Given the description of an element on the screen output the (x, y) to click on. 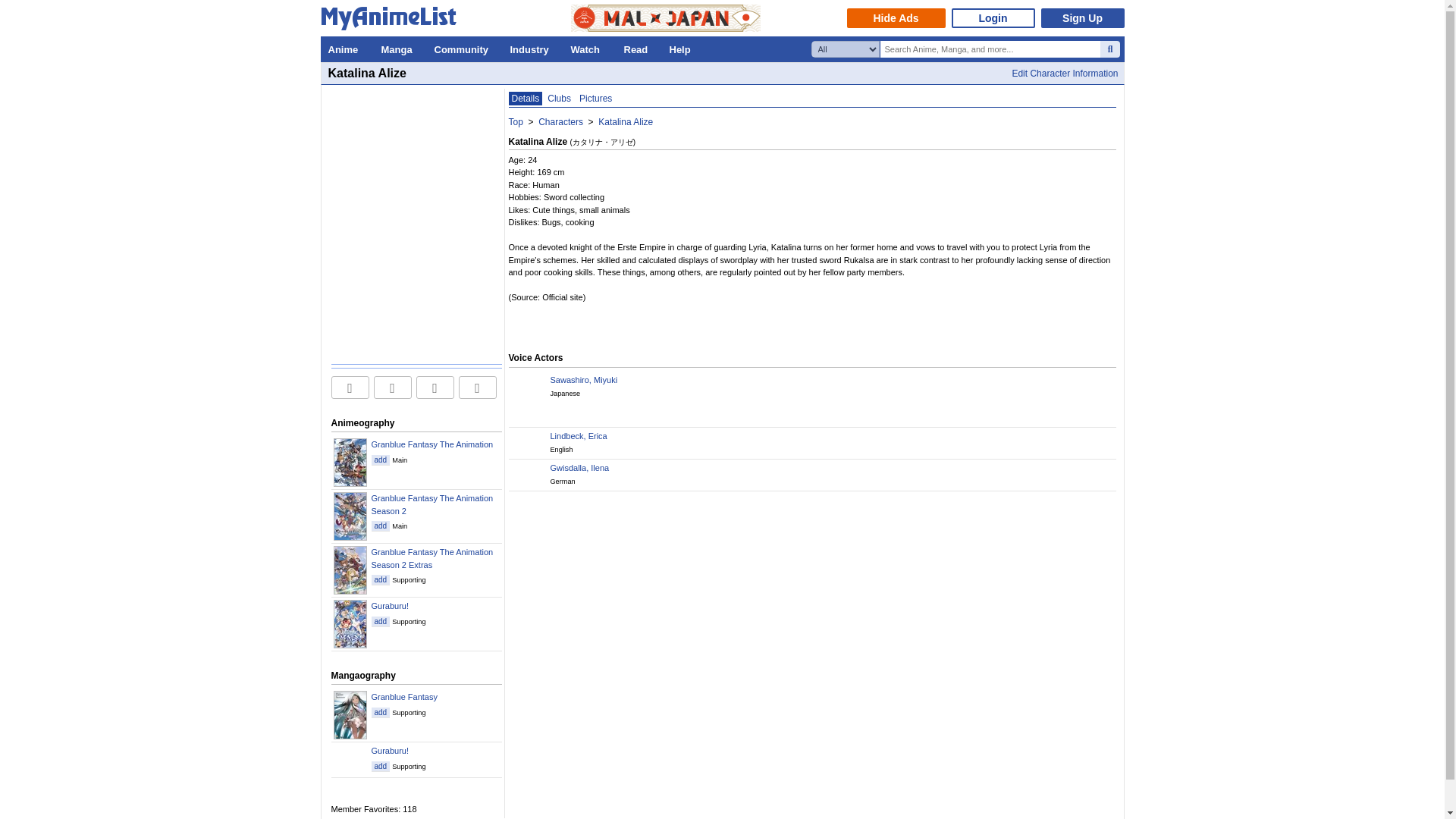
Login (991, 17)
Hide Ads (894, 17)
Sign Up (1082, 17)
MAL x JAPAN (665, 17)
MyAnimeList.net (392, 21)
Watch (588, 49)
Industry (532, 49)
Read (638, 49)
Anime (346, 49)
Community (464, 49)
